Given the description of an element on the screen output the (x, y) to click on. 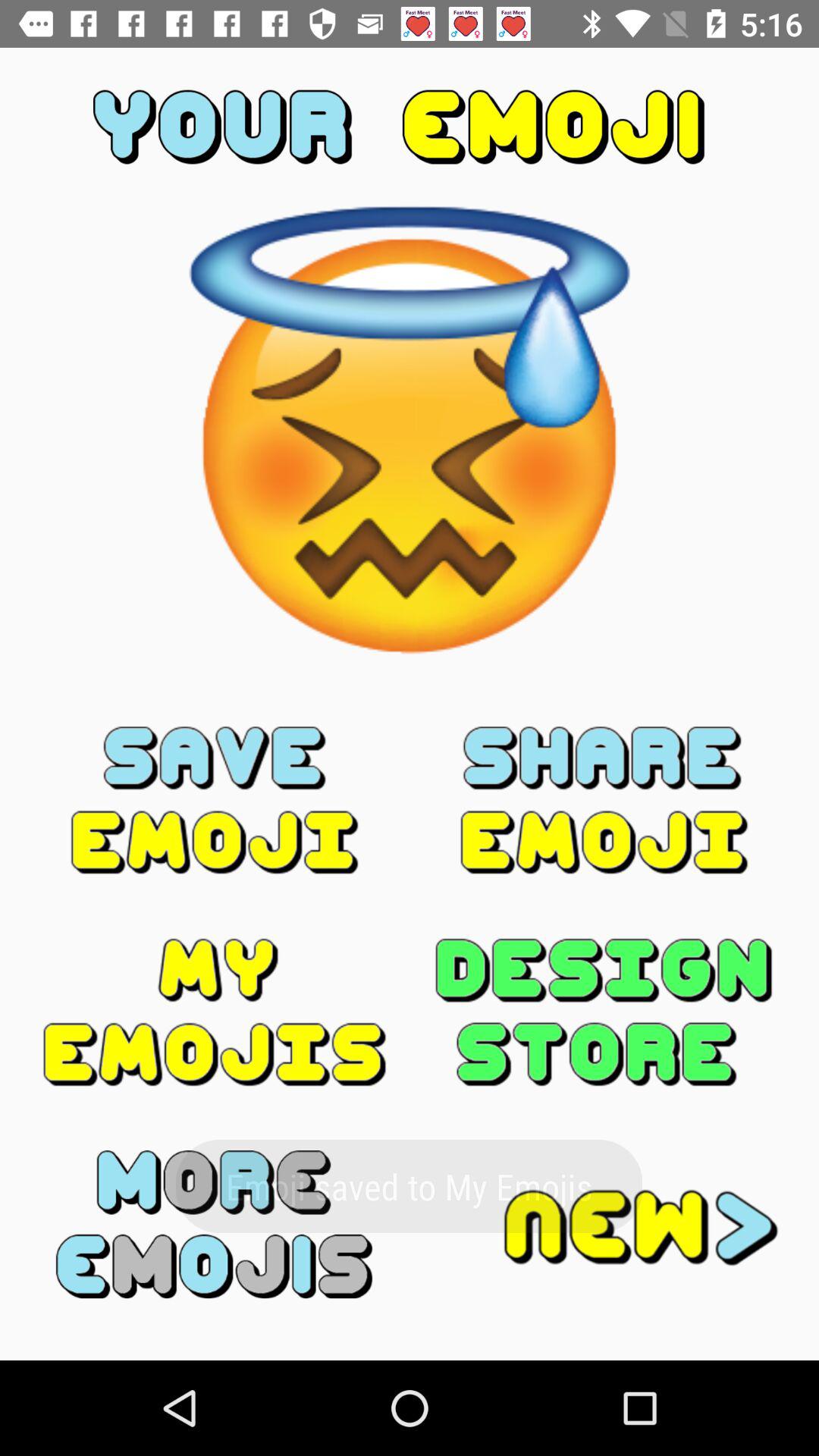
click item on the left (214, 800)
